Given the description of an element on the screen output the (x, y) to click on. 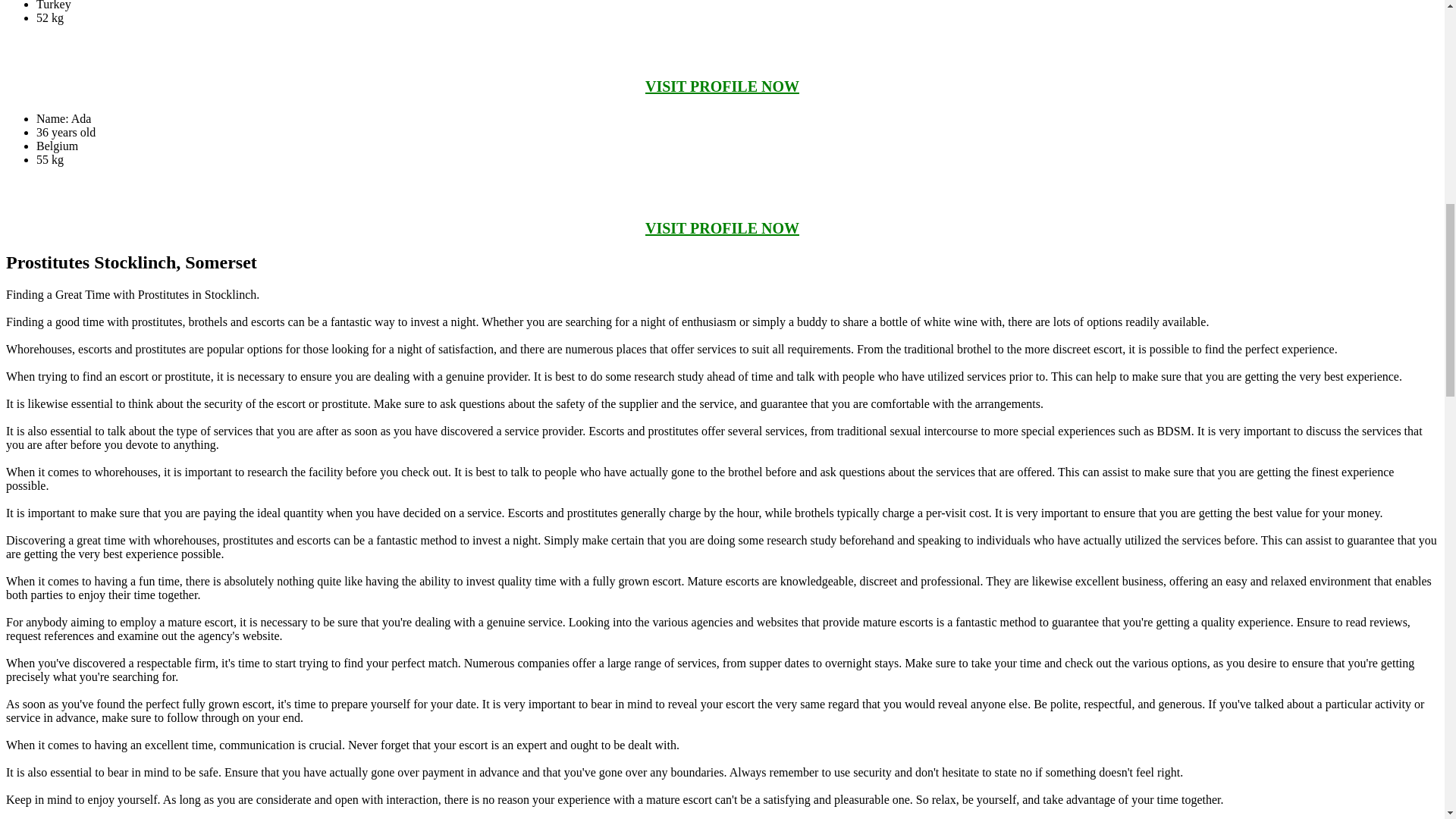
VISIT PROFILE NOW (722, 86)
VISIT PROFILE NOW (722, 228)
